Given the description of an element on the screen output the (x, y) to click on. 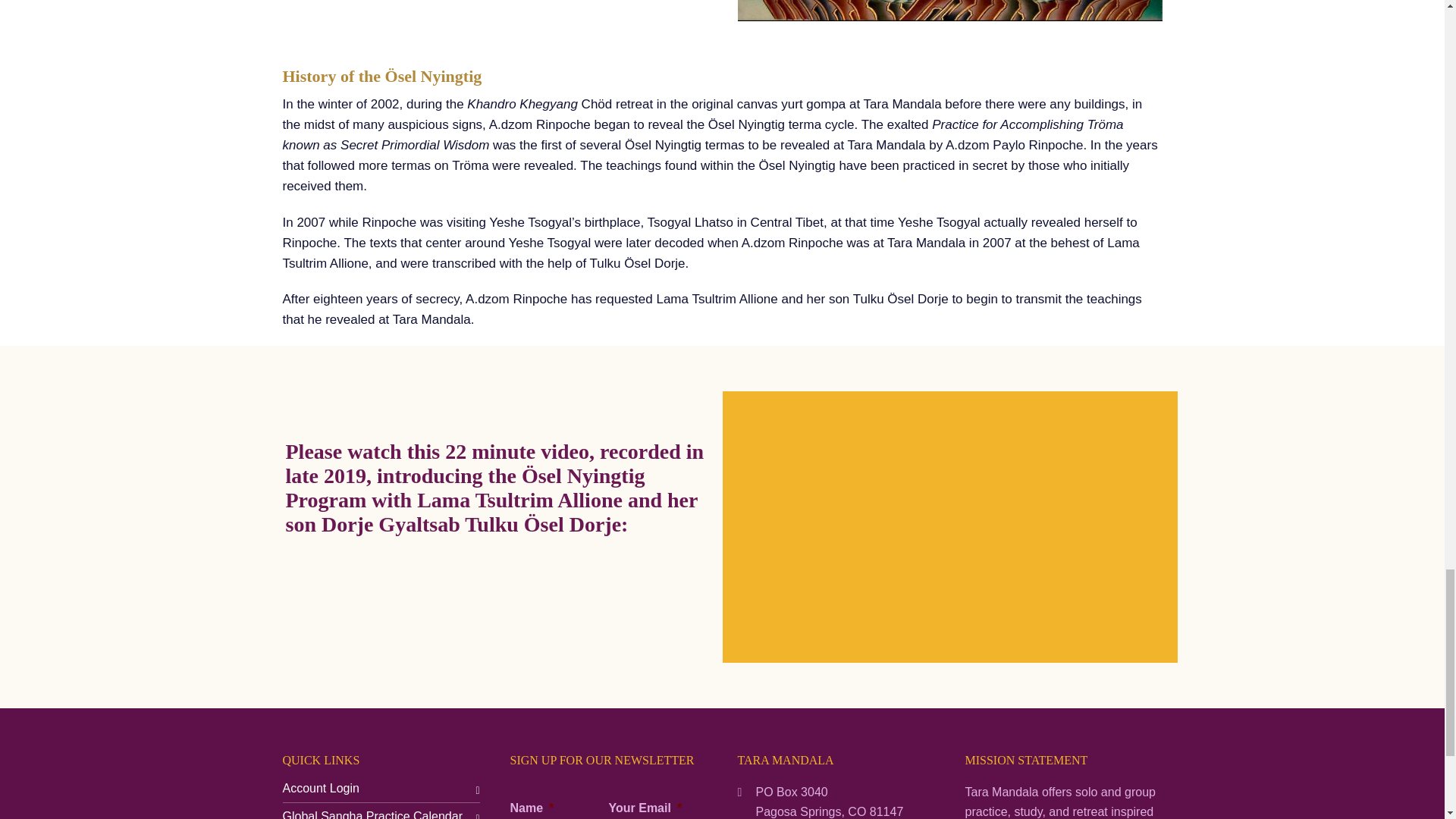
yeshe-surfing (948, 10)
